Given the description of an element on the screen output the (x, y) to click on. 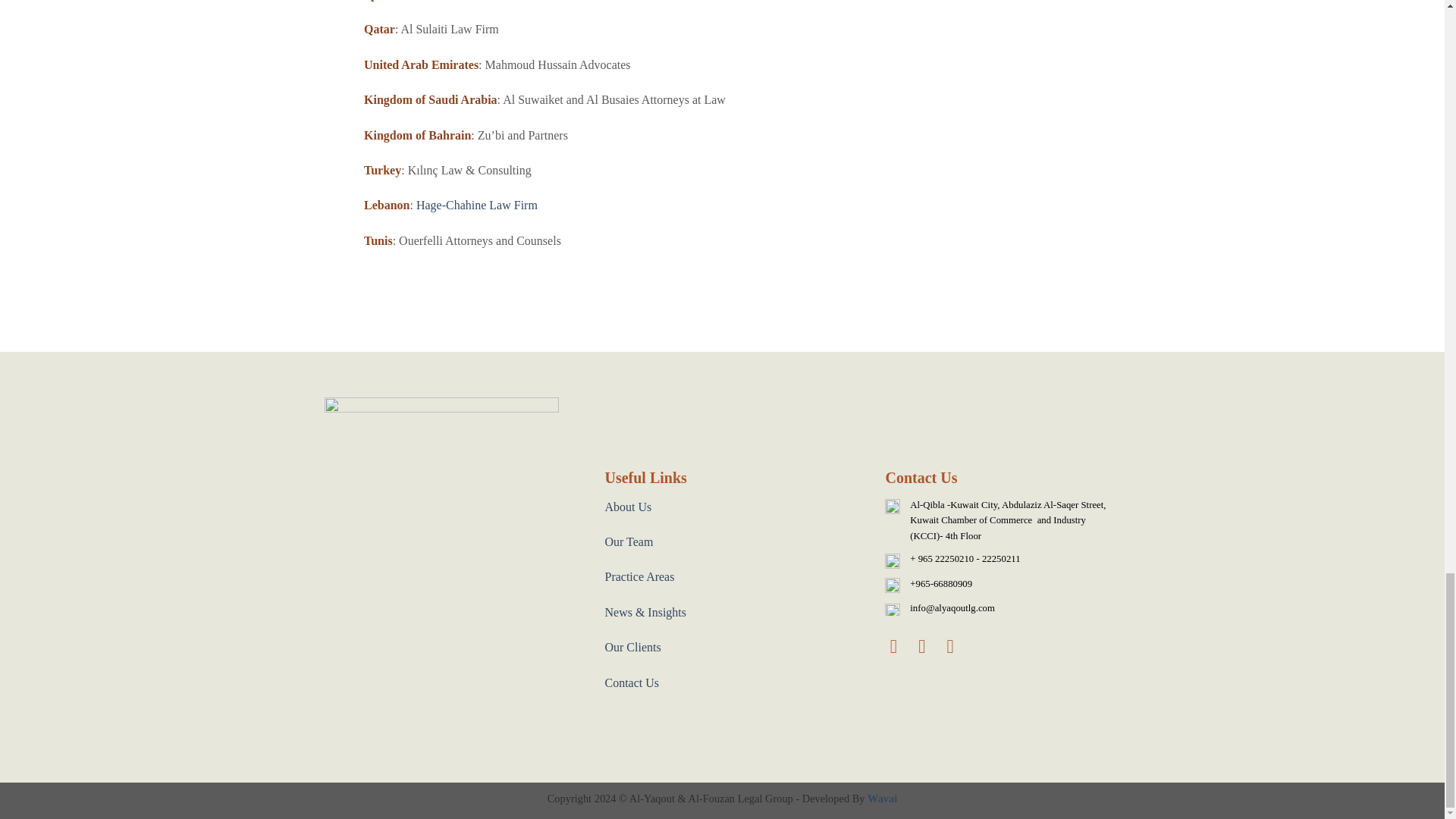
Our Team (628, 541)
Hage-Chahine Law Firm (476, 205)
Contact Us (631, 682)
Follow on LinkedIn (956, 646)
Our Clients (632, 646)
About Us (627, 506)
Practice Areas (639, 576)
Wavai (881, 798)
Follow on Instagram (898, 646)
Follow on Twitter (927, 646)
